Given the description of an element on the screen output the (x, y) to click on. 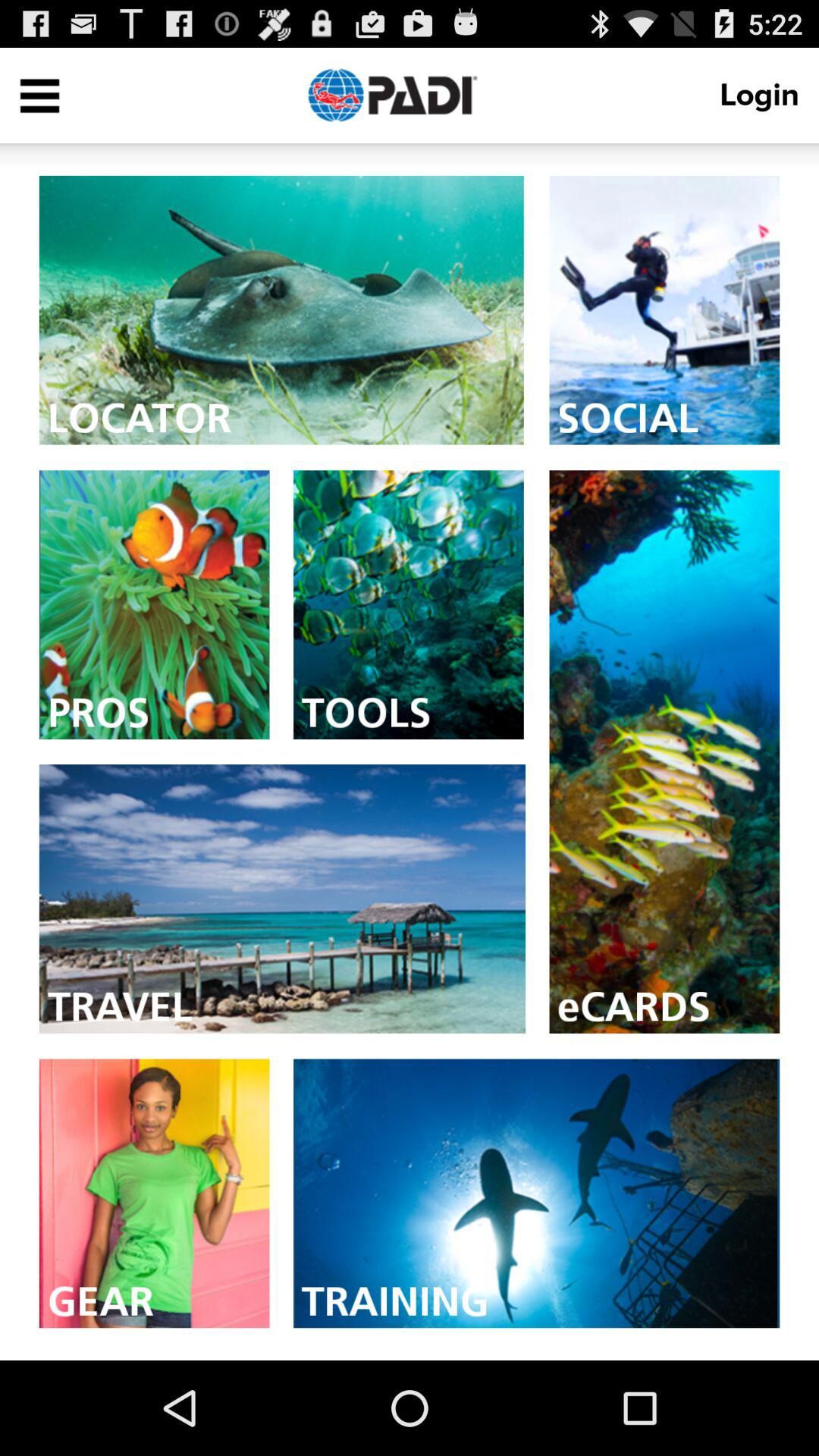
training botton (536, 1193)
